Given the description of an element on the screen output the (x, y) to click on. 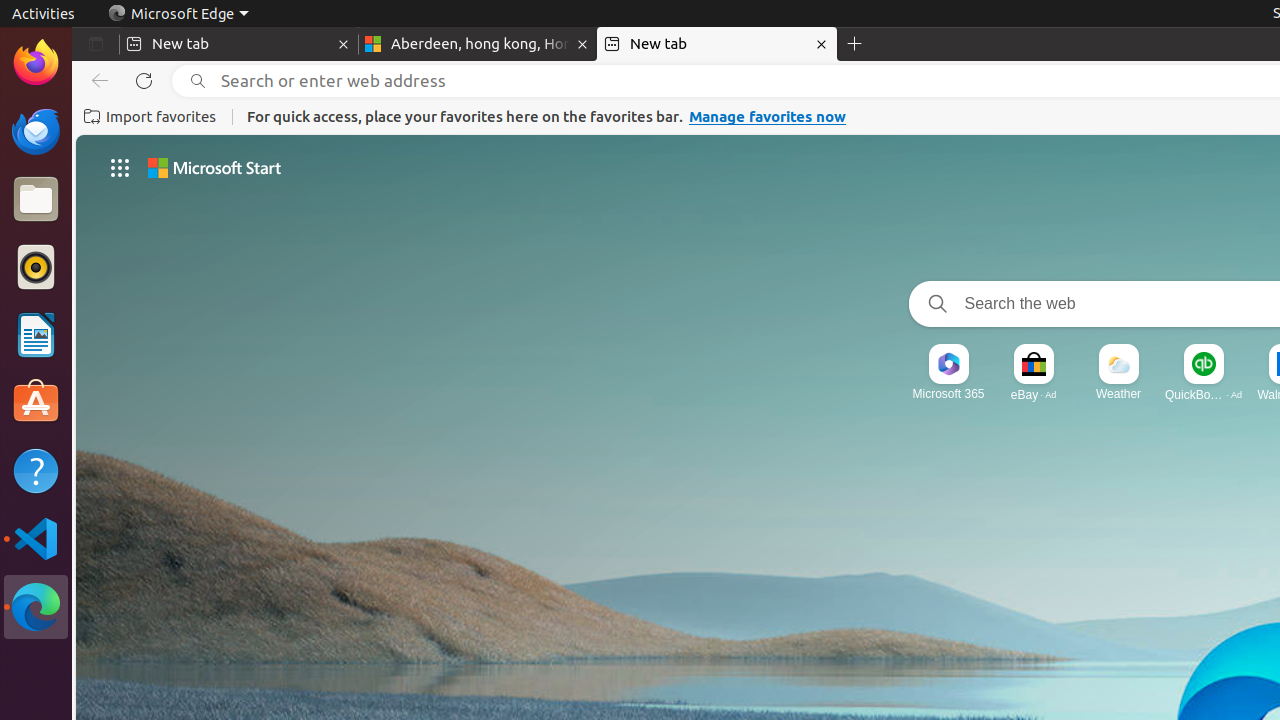
Ubuntu Software Element type: push-button (36, 402)
Firefox Web Browser Element type: push-button (36, 63)
Thunderbird Mail Element type: push-button (36, 131)
Search Element type: push-button (933, 303)
Microsoft start Element type: link (214, 168)
